Given the description of an element on the screen output the (x, y) to click on. 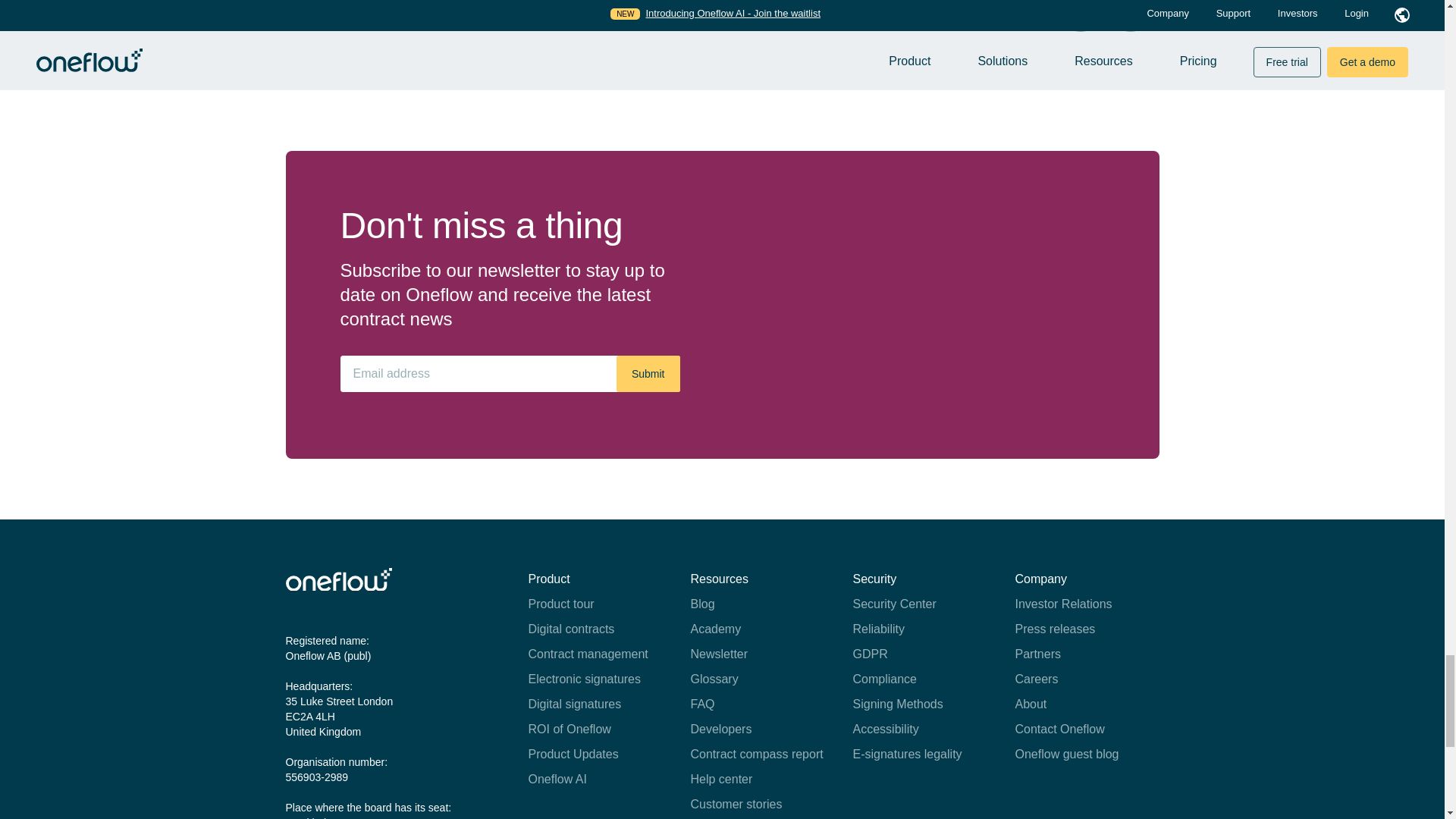
Submit (647, 373)
